Given the description of an element on the screen output the (x, y) to click on. 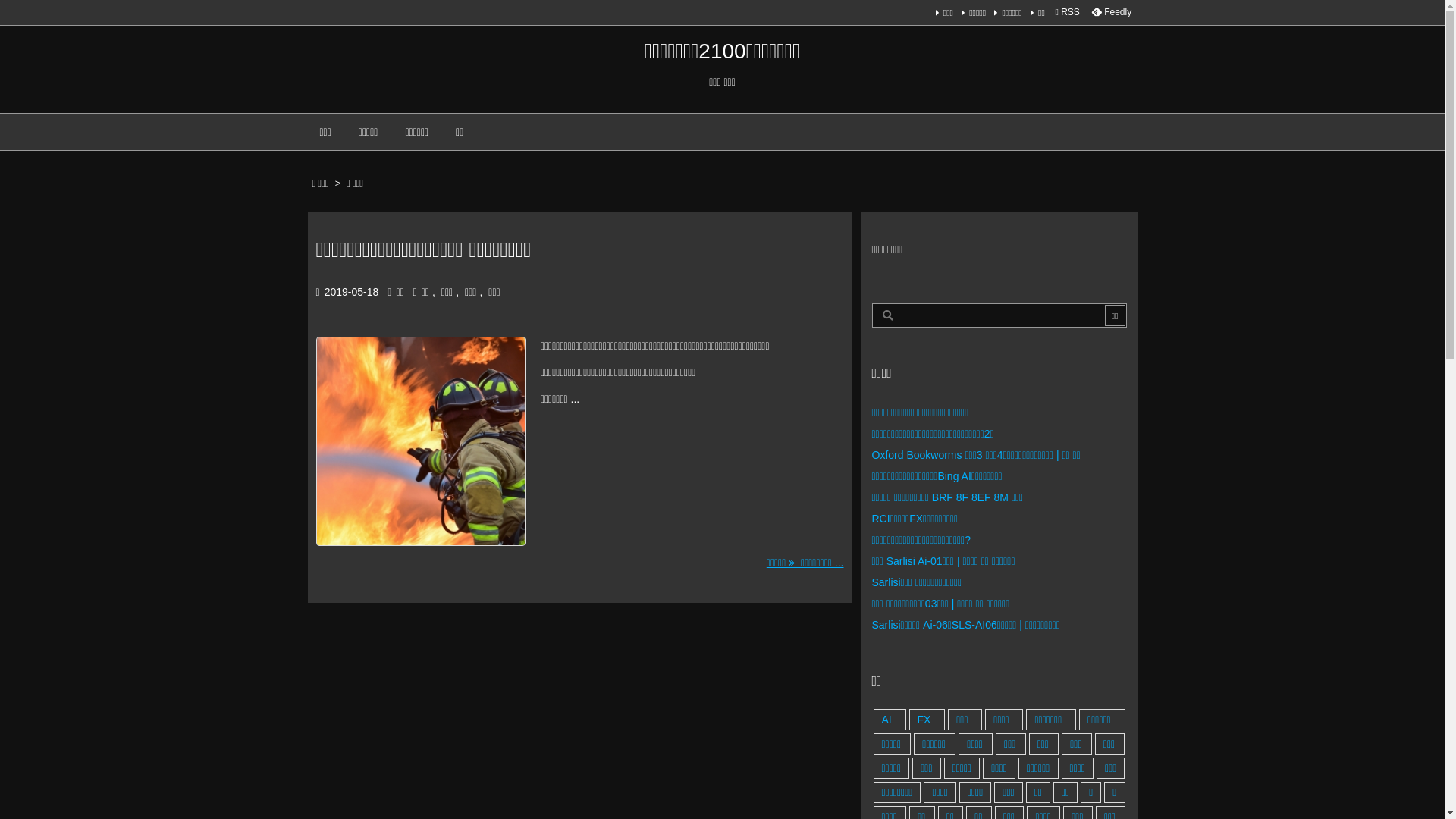
FX Element type: text (926, 719)
  Feedly  Element type: text (1110, 11)
AI Element type: text (889, 719)
